Given the description of an element on the screen output the (x, y) to click on. 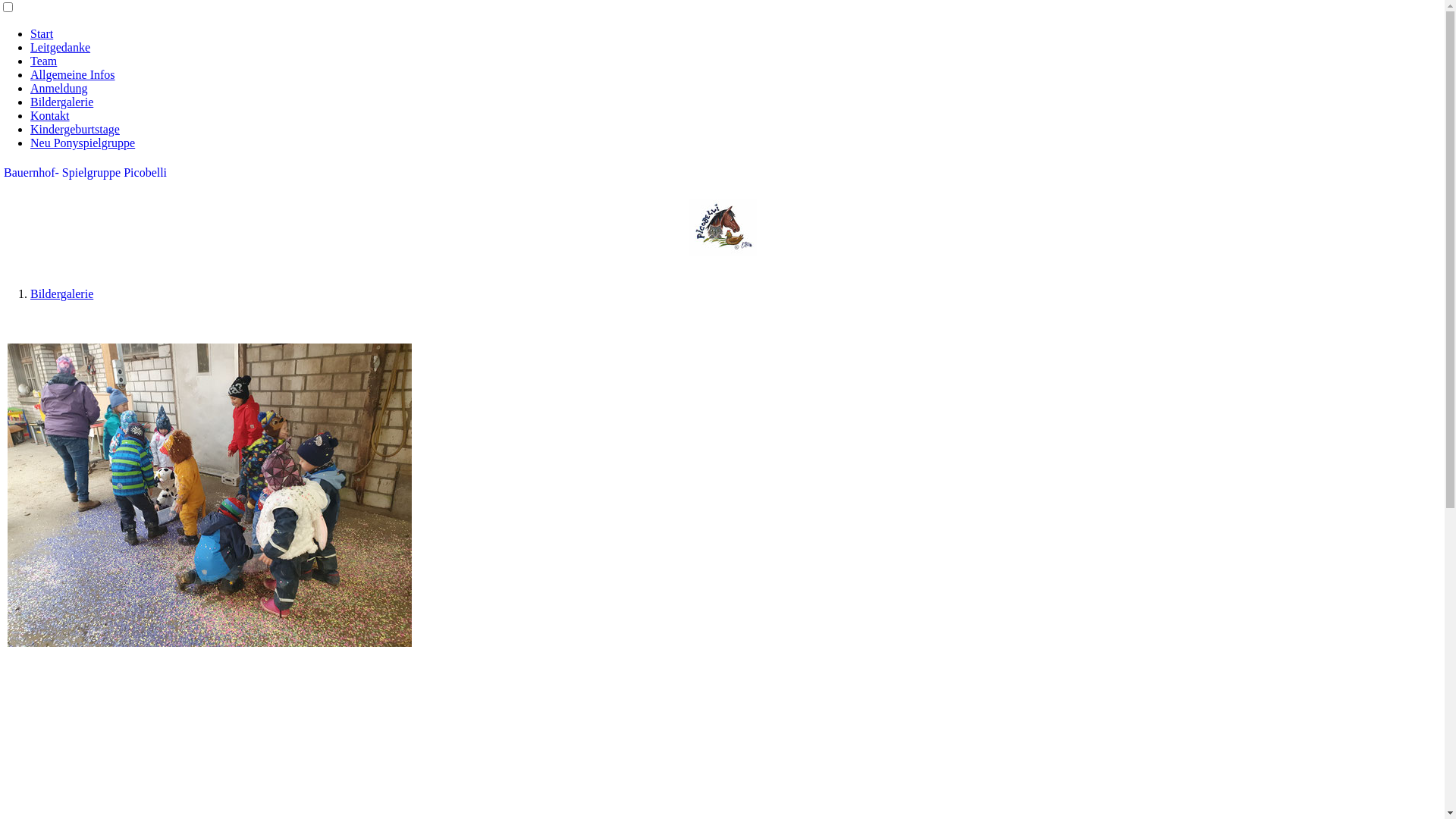
Team Element type: text (43, 60)
Bildergalerie Element type: text (61, 101)
Bauernhof- Spielgruppe Picobelli Element type: text (84, 172)
Kindergeburtstage Element type: text (74, 128)
Start Element type: text (41, 33)
Leitgedanke Element type: text (60, 46)
Neu Ponyspielgruppe Element type: text (82, 142)
Allgemeine Infos Element type: text (72, 74)
Anmeldung Element type: text (58, 87)
Kontakt Element type: text (49, 115)
Bildergalerie Element type: text (61, 293)
